Given the description of an element on the screen output the (x, y) to click on. 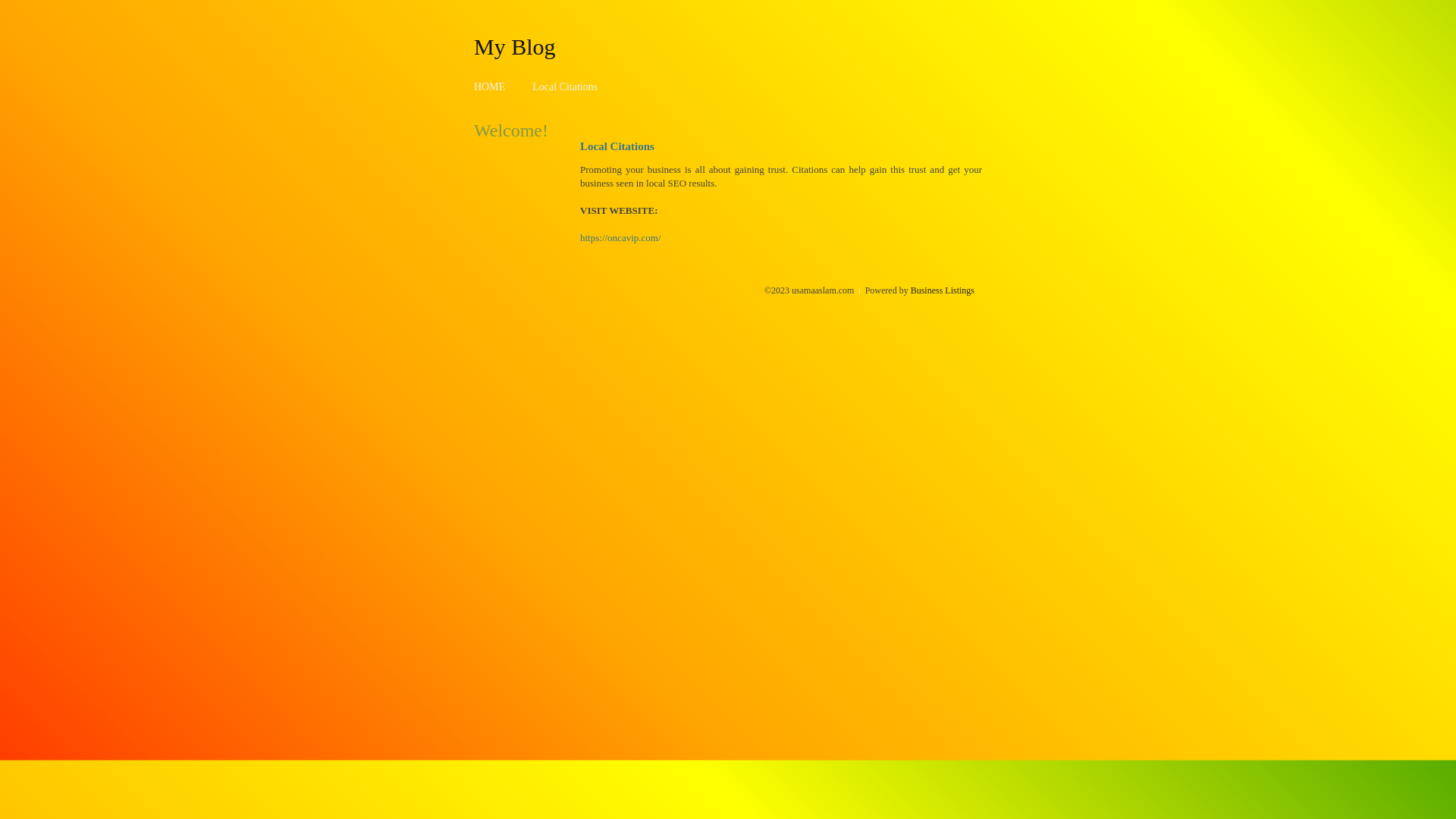
Local Citations Element type: text (564, 86)
My Blog Element type: text (514, 46)
https://oncavip.com/ Element type: text (620, 237)
HOME Element type: text (489, 86)
Business Listings Element type: text (942, 290)
